Given the description of an element on the screen output the (x, y) to click on. 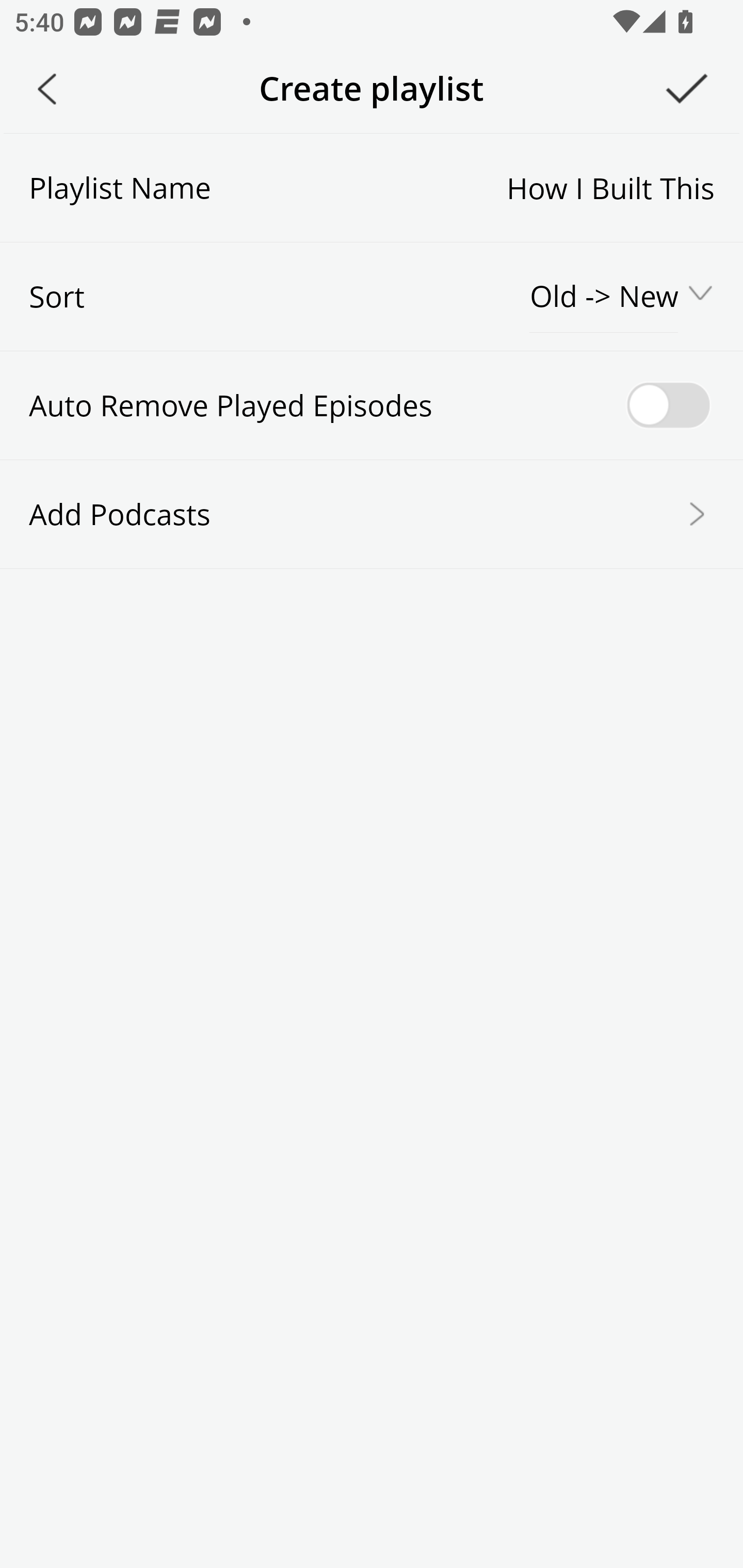
Back (46, 88)
How I Built This (462, 187)
Old -> New (605, 297)
Add Podcasts (371, 513)
